Given the description of an element on the screen output the (x, y) to click on. 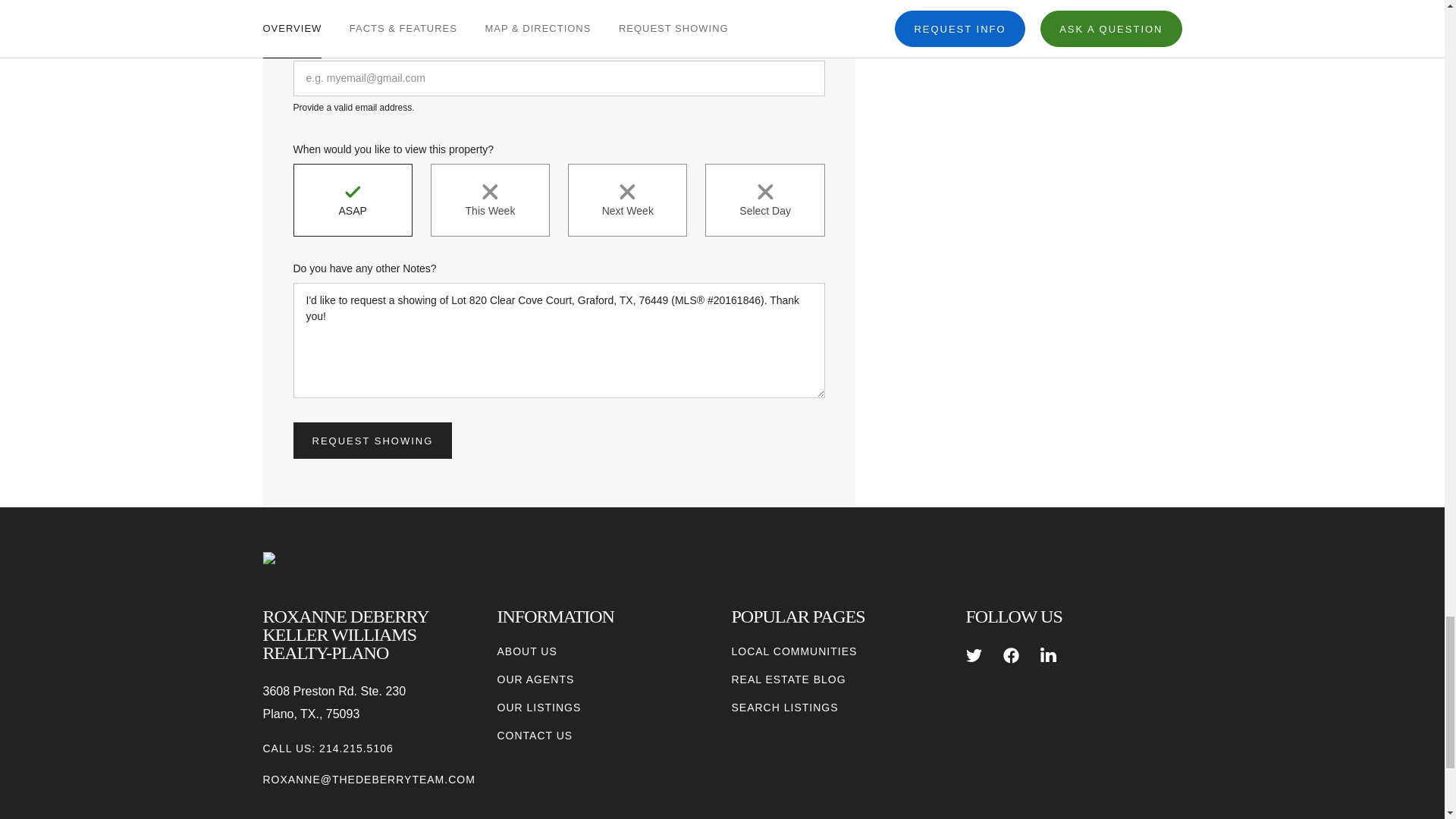
This Week (490, 199)
LINKEDIN (1049, 655)
Next Week (627, 199)
FACEBOOK (1011, 655)
ASAP (352, 199)
TWITTER (973, 655)
